Given the description of an element on the screen output the (x, y) to click on. 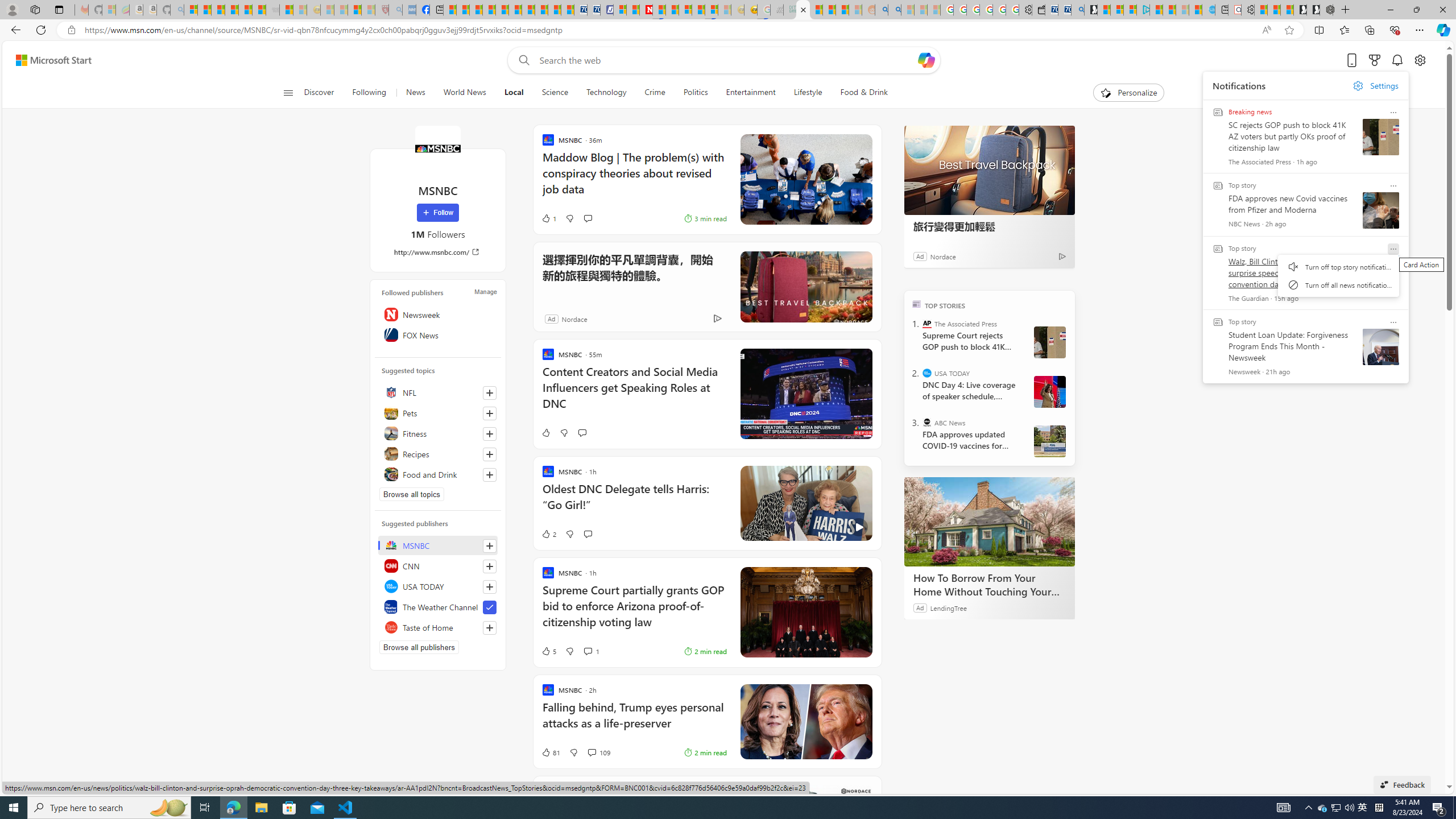
Combat Siege - Sleeping (271, 9)
Bing Real Estate - Home sales and rental listings (1077, 9)
